Given the description of an element on the screen output the (x, y) to click on. 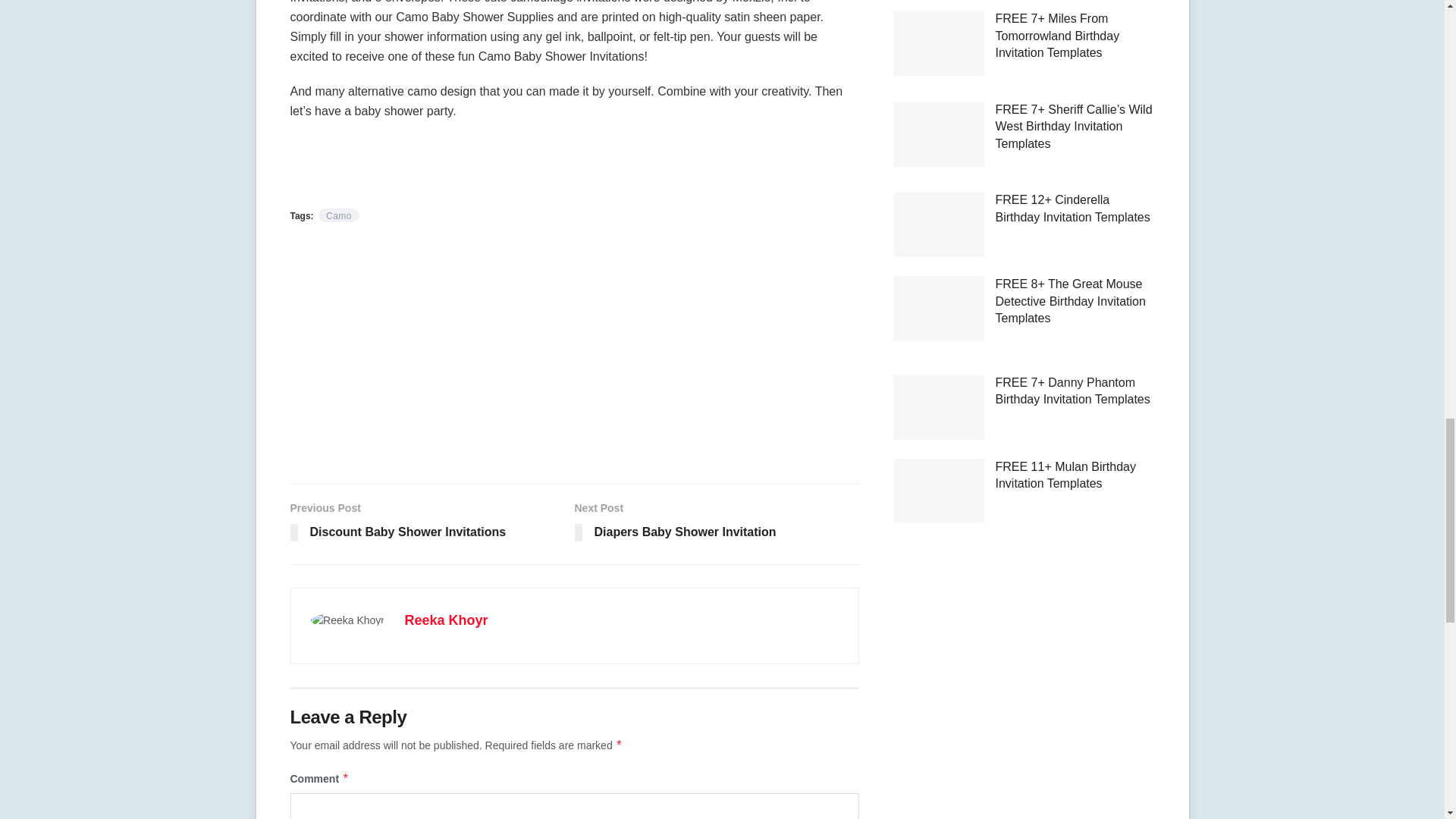
Camo (717, 523)
Reeka Khoyr (338, 214)
